Given the description of an element on the screen output the (x, y) to click on. 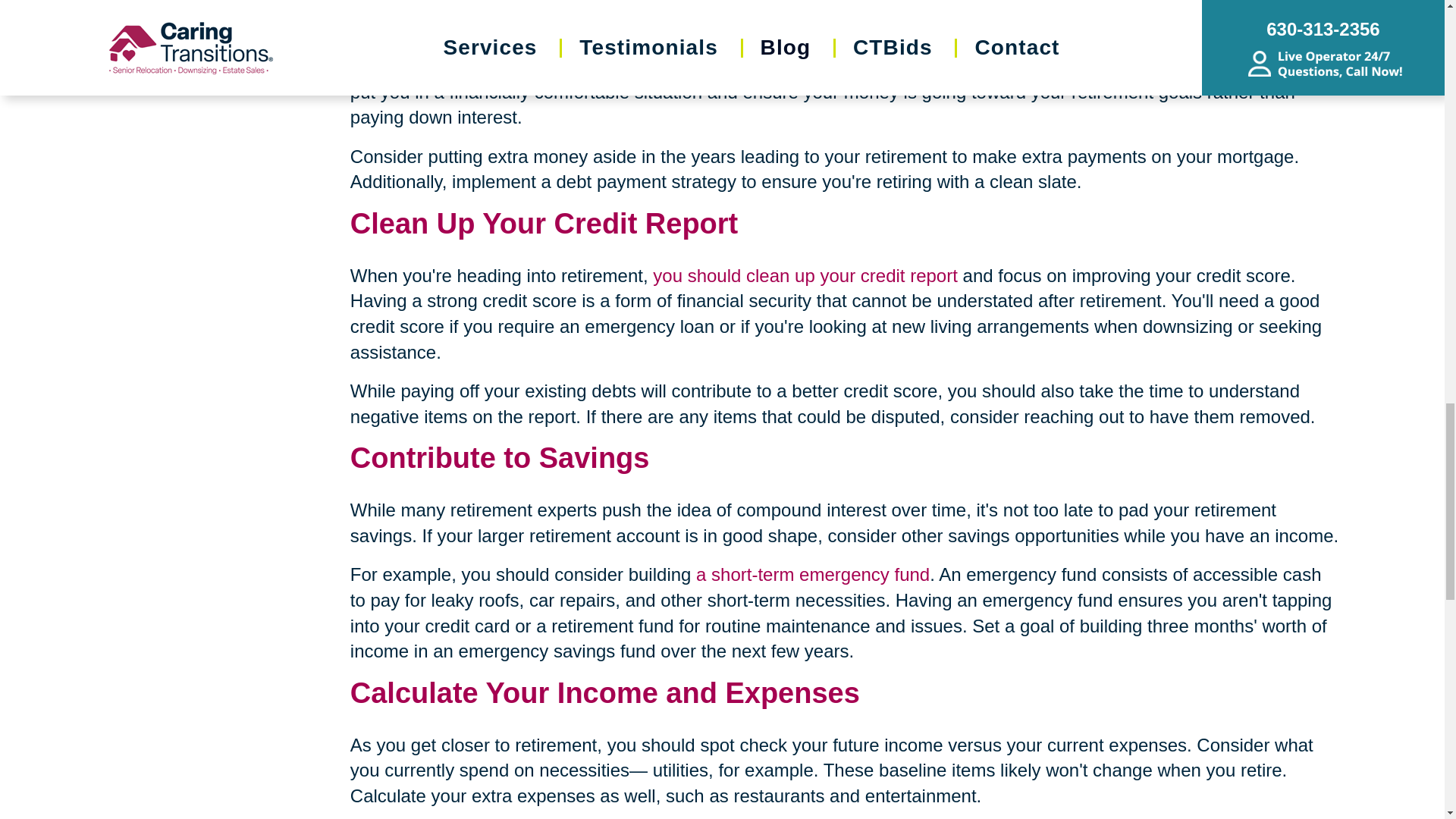
a short-term emergency fund (812, 574)
you should clean up your credit report (805, 275)
